Given the description of an element on the screen output the (x, y) to click on. 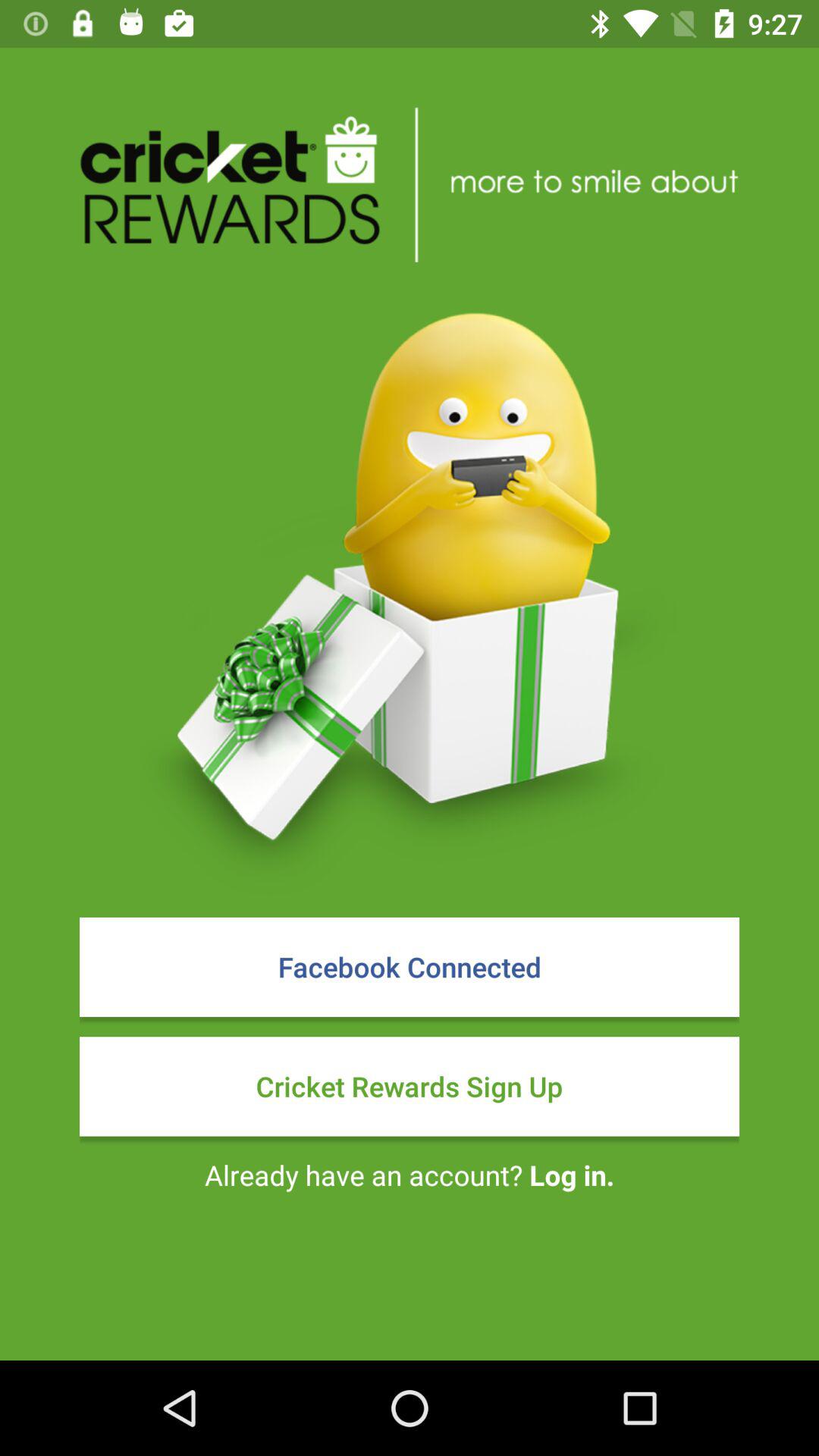
click the facebook connected icon (409, 966)
